Given the description of an element on the screen output the (x, y) to click on. 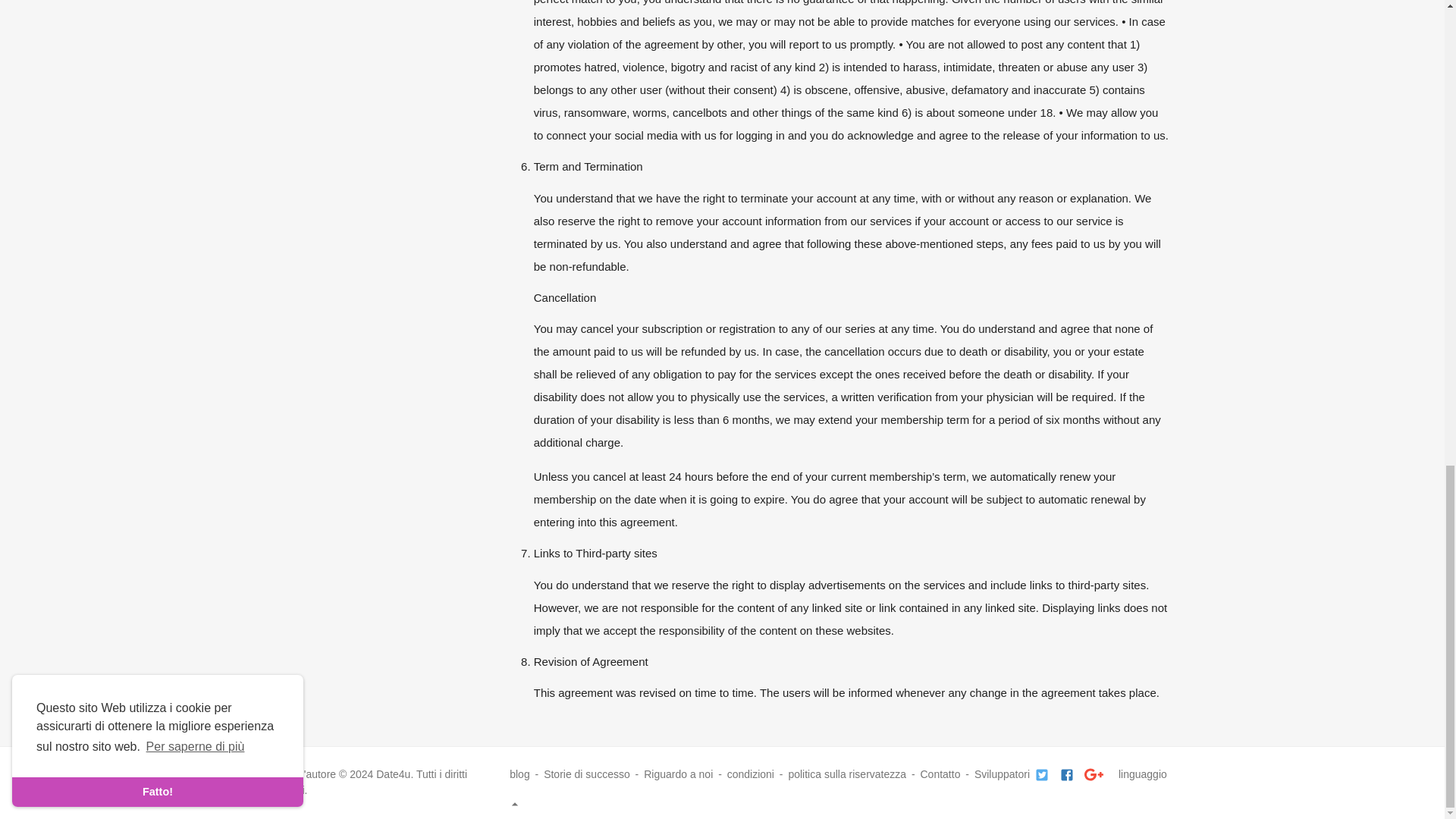
Storie di successo (586, 774)
linguaggio (836, 788)
Contatto (940, 774)
blog (519, 774)
Sviluppatori (1001, 774)
politica sulla riservatezza (846, 774)
condizioni (750, 774)
Riguardo a noi (678, 774)
